Given the description of an element on the screen output the (x, y) to click on. 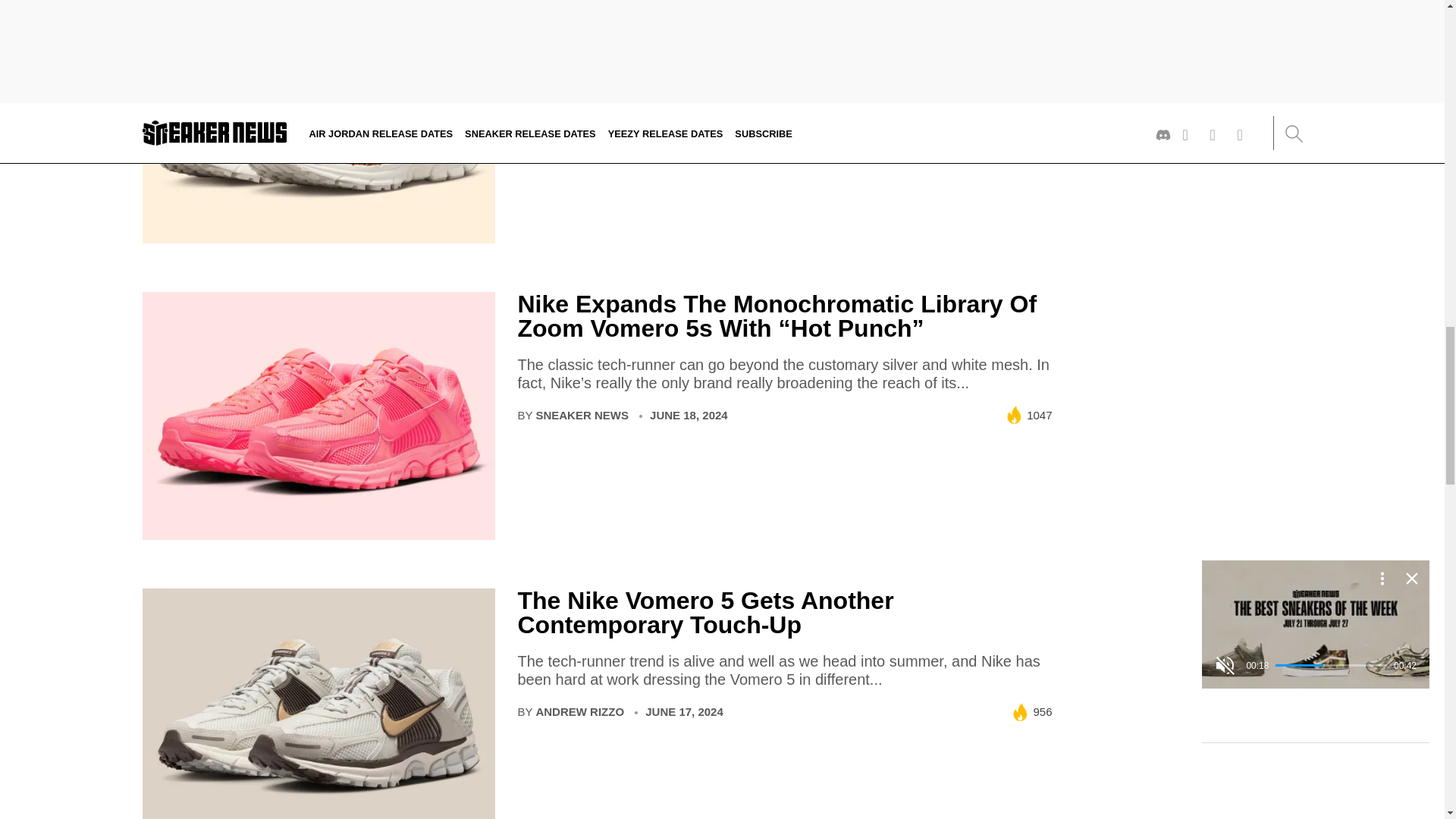
SNEAKER NEWS (581, 414)
ANDREW RIZZO (579, 118)
The Nike Zoom Vomero 5 Prepares For Fall In Brown Tones (777, 22)
